Given the description of an element on the screen output the (x, y) to click on. 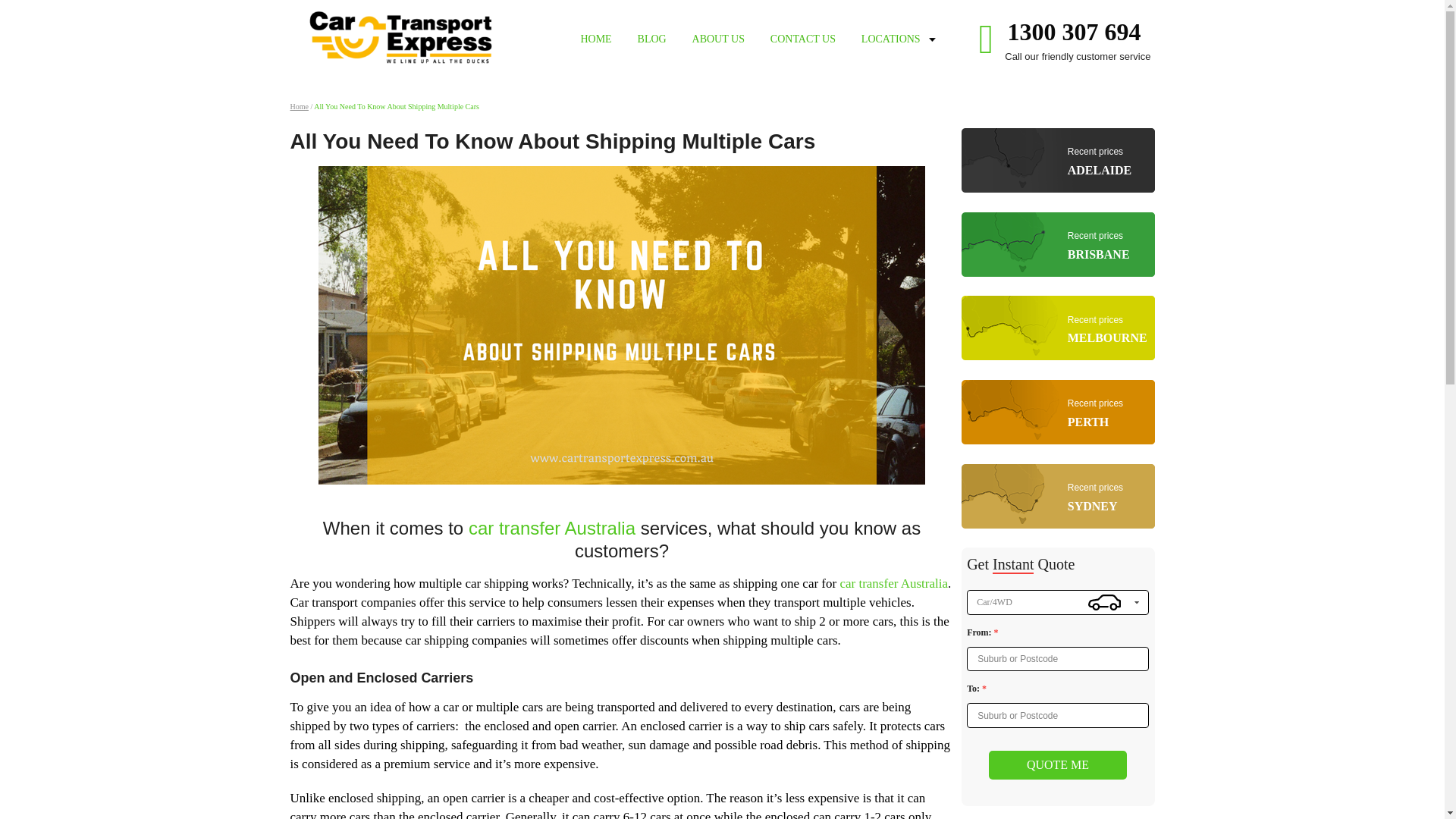
BLOG (1057, 162)
Home (1057, 498)
1300 307 694 (651, 39)
ABOUT US (298, 106)
CONTACT US (1073, 31)
QUOTE ME (718, 39)
HOME (1057, 246)
car transfer Australia (1057, 414)
car transfer Australia (802, 39)
LOCATIONS (1057, 765)
